Given the description of an element on the screen output the (x, y) to click on. 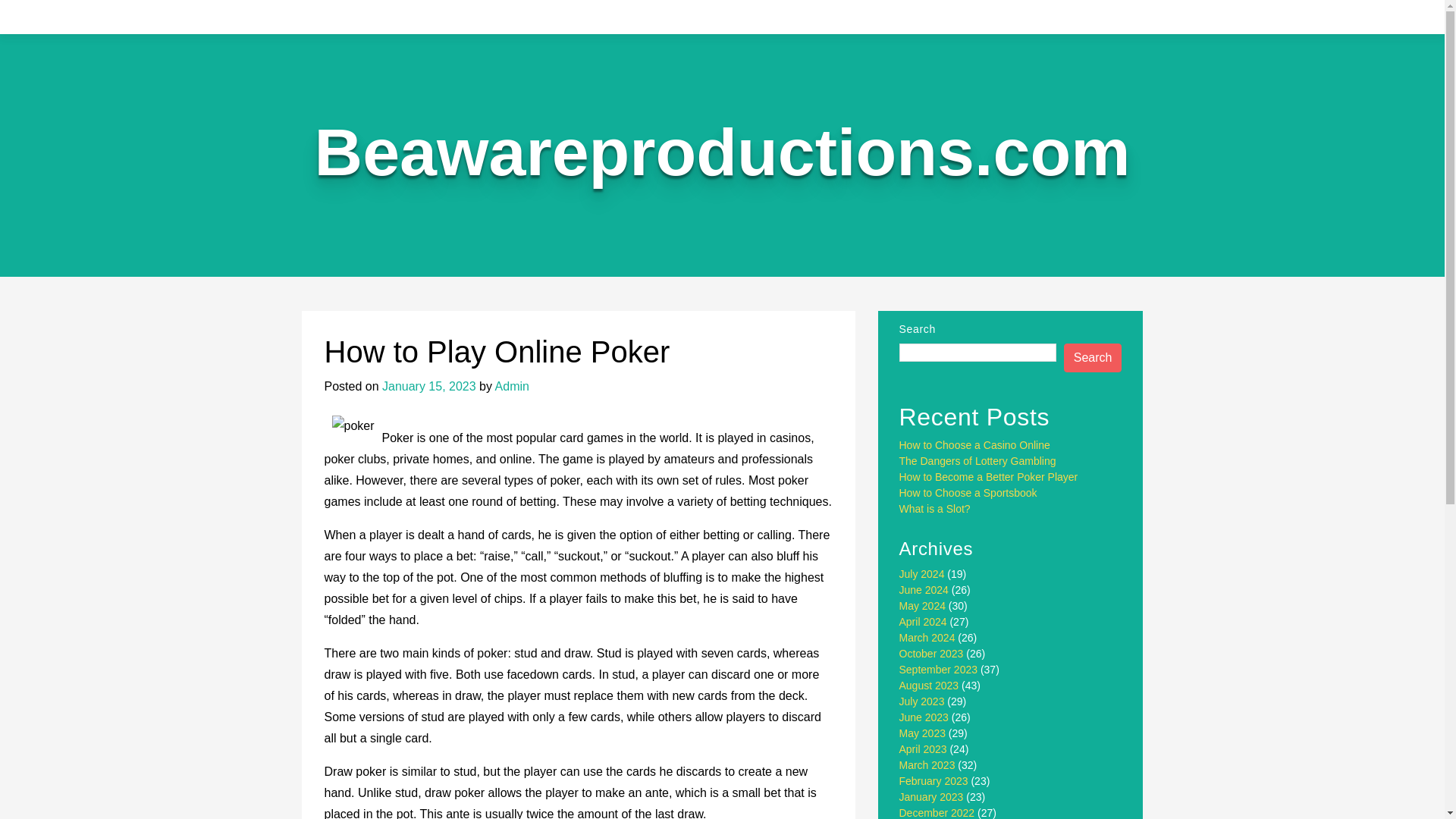
June 2024 (924, 589)
Admin (512, 386)
Search (1093, 357)
January 15, 2023 (428, 386)
How to Become a Better Poker Player (988, 476)
January 2023 (931, 797)
July 2024 (921, 573)
How to Choose a Sportsbook (967, 492)
October 2023 (931, 653)
The Dangers of Lottery Gambling (978, 460)
August 2023 (929, 685)
February 2023 (933, 780)
June 2023 (924, 717)
What is a Slot? (935, 508)
May 2023 (921, 733)
